Given the description of an element on the screen output the (x, y) to click on. 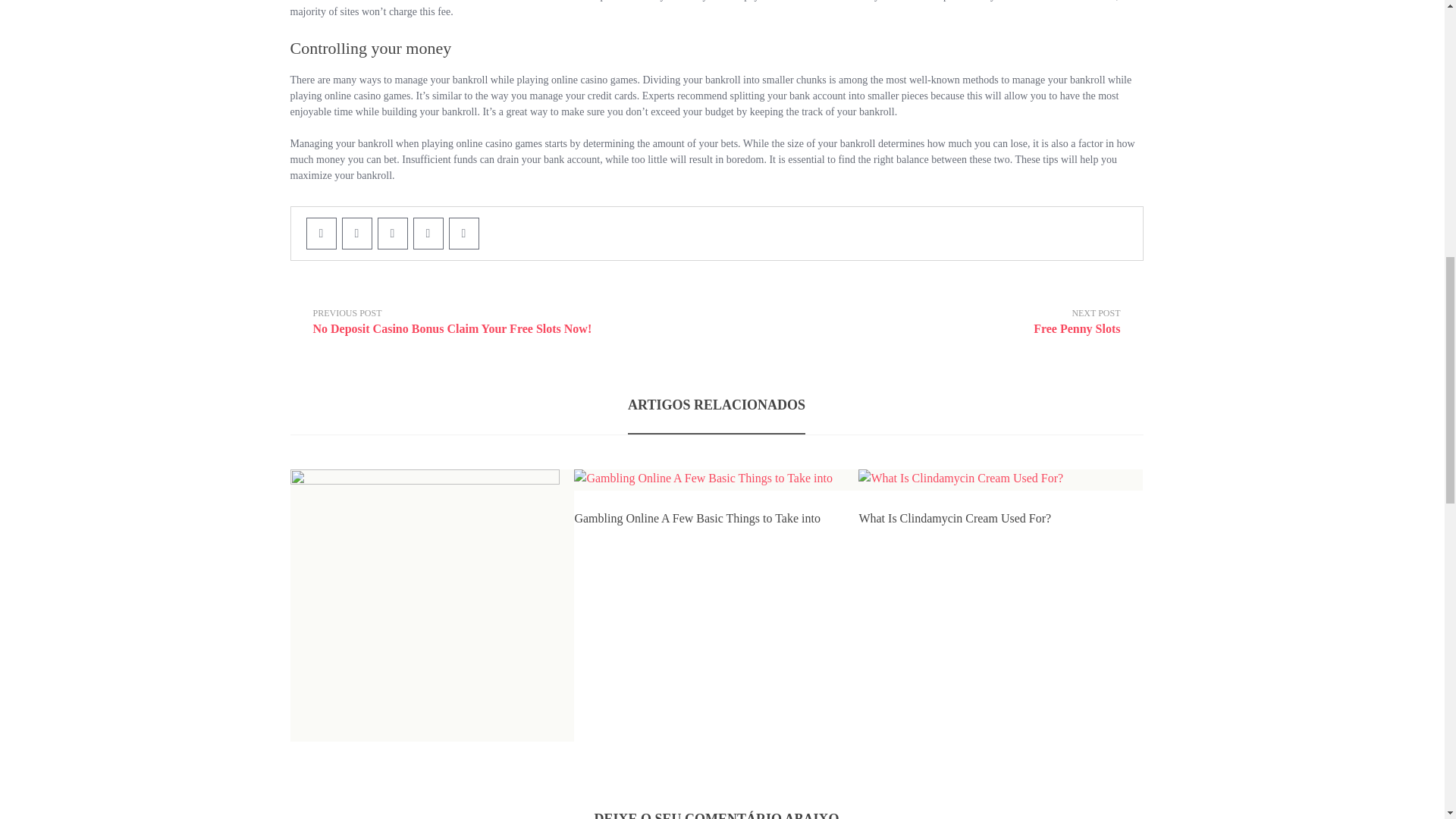
Pin no Pinterest (392, 233)
Compartilhar no LinkedIn (463, 233)
Compartilhar no Twitter (355, 233)
Partilhar no Facebook (950, 322)
